Given the description of an element on the screen output the (x, y) to click on. 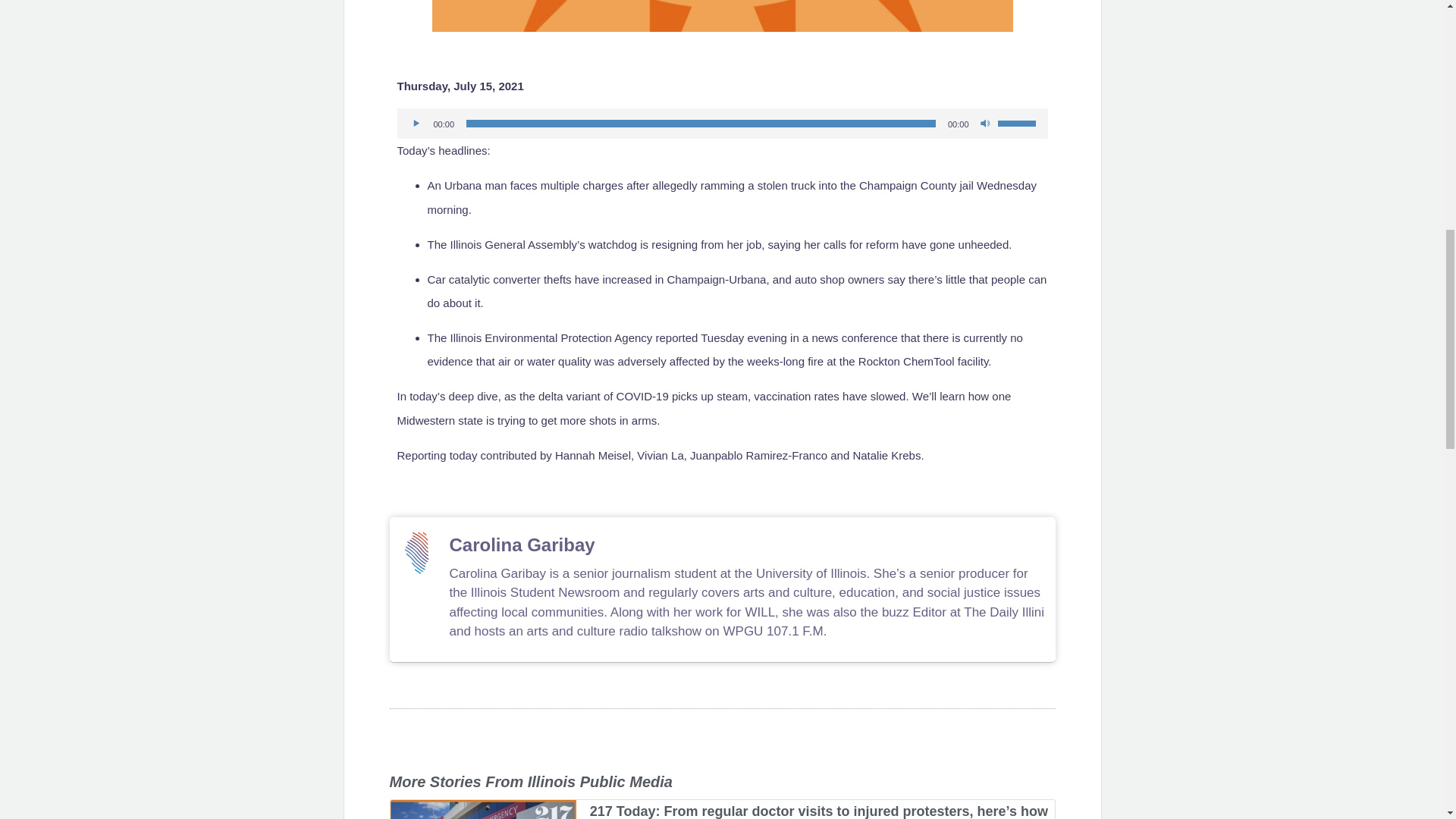
Mute (985, 123)
Play (417, 123)
